Given the description of an element on the screen output the (x, y) to click on. 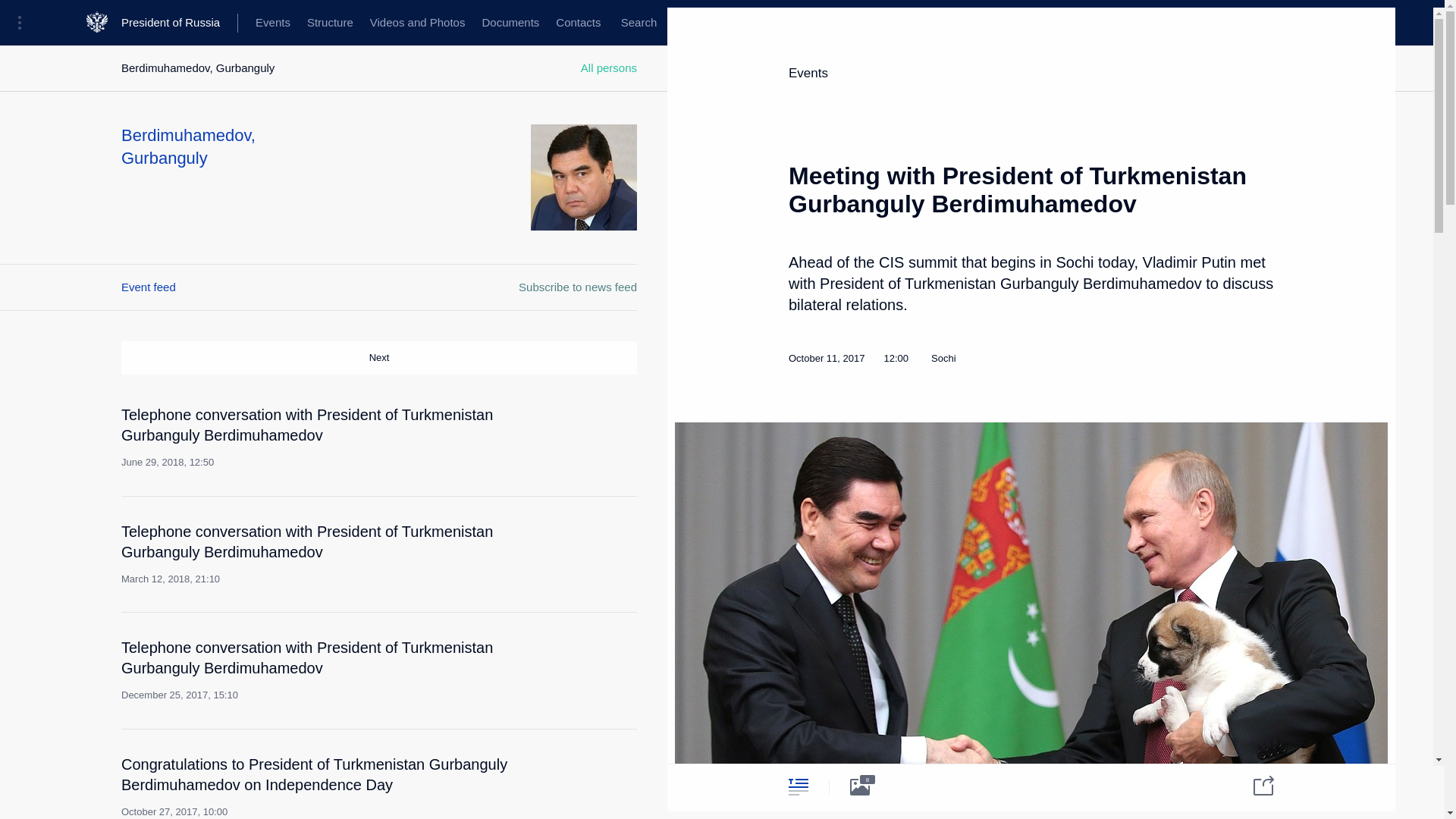
Documents (510, 22)
Videos and Photos (417, 22)
All persons (608, 67)
Global website search (638, 22)
Photo (859, 786)
Next (378, 357)
Event feed (148, 287)
Text (798, 786)
Search (638, 22)
President of Russia (179, 22)
